Given the description of an element on the screen output the (x, y) to click on. 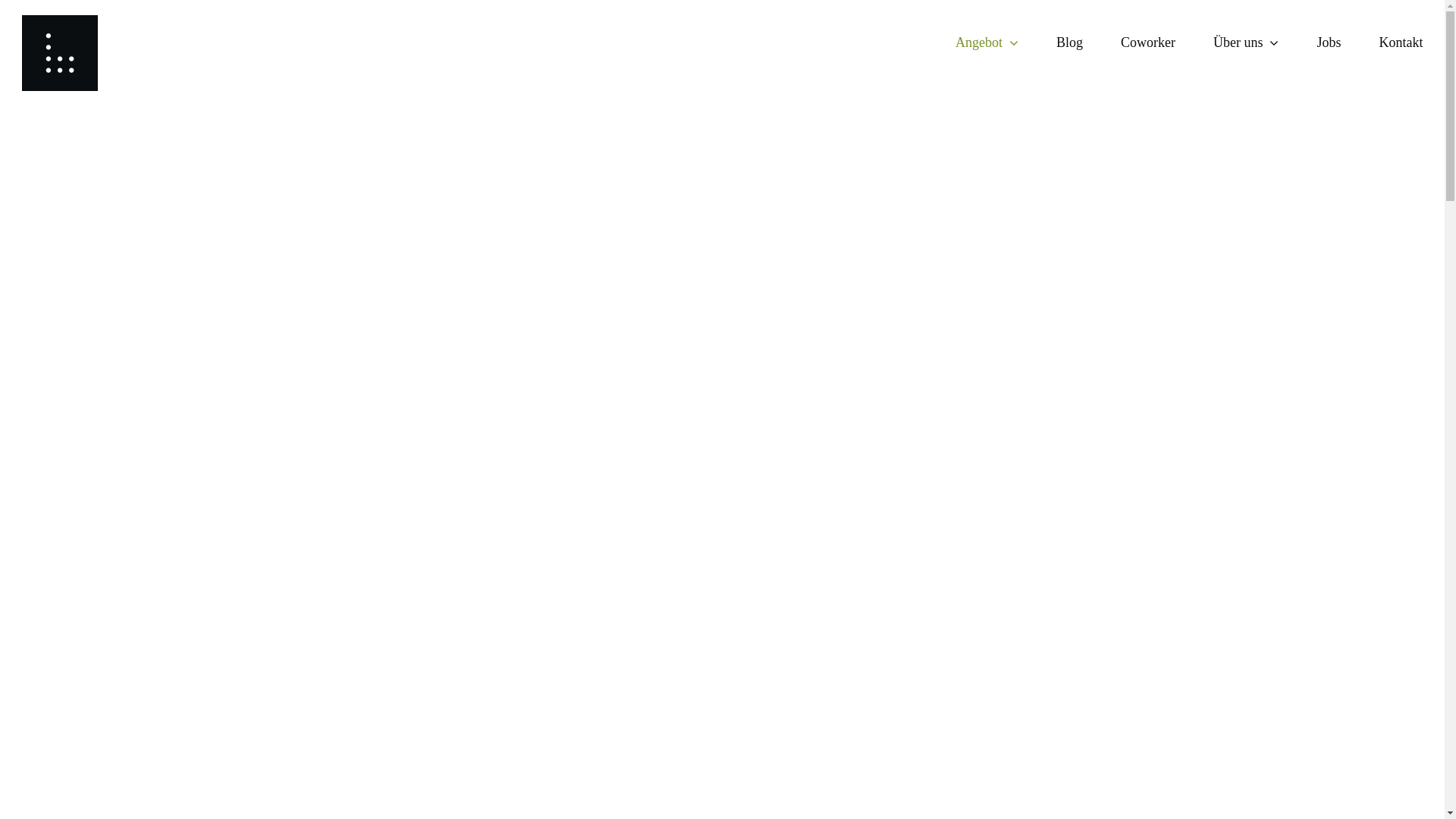
Angebot Element type: text (986, 42)
Kontakt Element type: text (1400, 42)
amico-coworking-space-luzern-buero-mieten-stadt-luzern-Logo Element type: hover (59, 53)
Blog Element type: text (1069, 42)
Jobs Element type: text (1328, 42)
Coworker Element type: text (1147, 42)
